Given the description of an element on the screen output the (x, y) to click on. 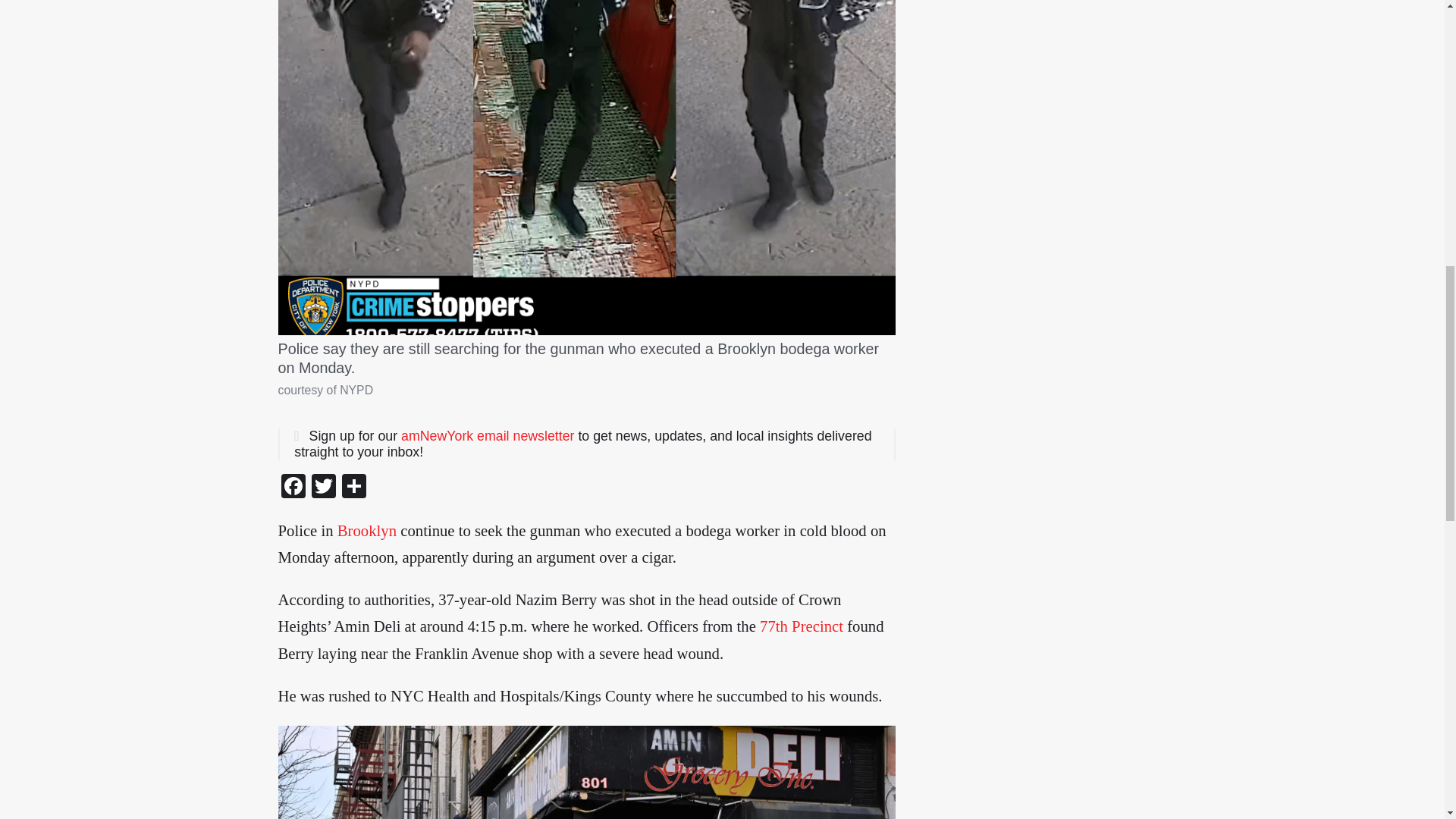
Twitter (322, 488)
Facebook (292, 488)
